Given the description of an element on the screen output the (x, y) to click on. 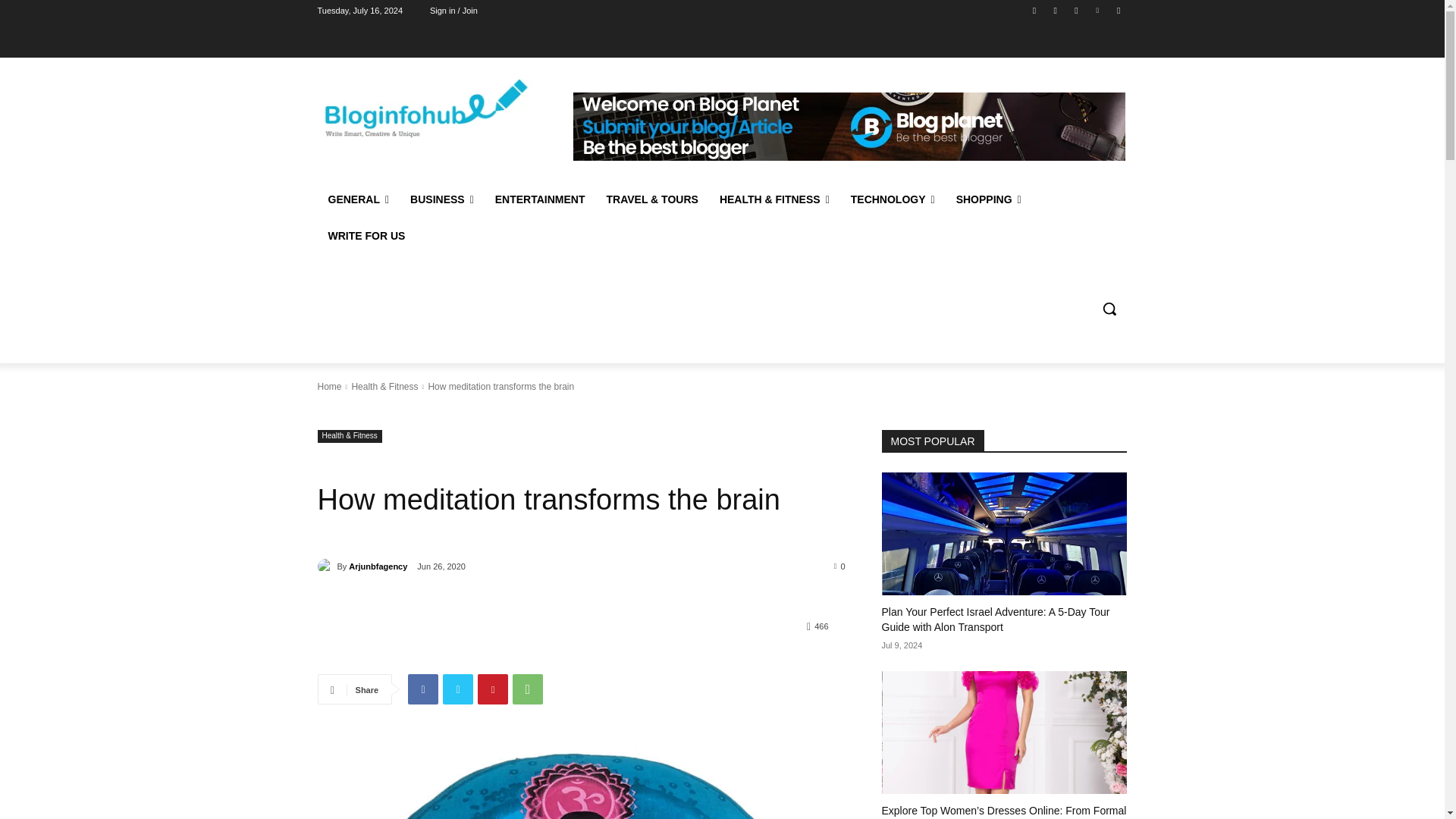
Facebook (1034, 9)
Twitter (1075, 9)
Youtube (1117, 9)
ENTERTAINMENT (539, 198)
GENERAL (357, 198)
BUSINESS (441, 198)
Vimeo (1097, 9)
Twitter (457, 689)
Pinterest (492, 689)
WhatsApp (527, 689)
Arjunbfagency (326, 566)
Facebook (422, 689)
Instagram (1055, 9)
MBP012 (580, 782)
